Given the description of an element on the screen output the (x, y) to click on. 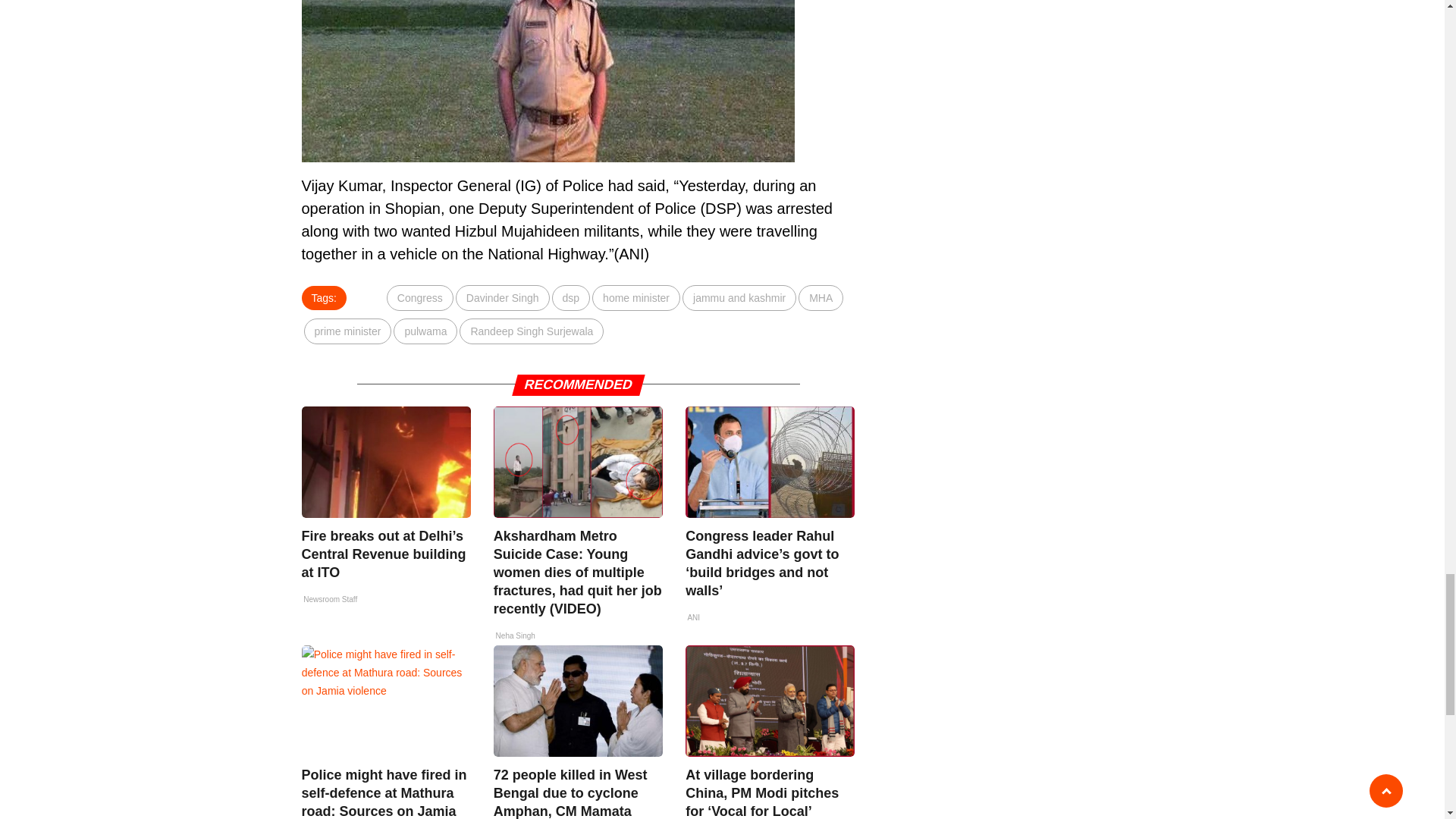
prime minister (346, 330)
MHA (820, 298)
Randeep Singh Surjewala (532, 330)
jammu and kashmir (739, 298)
Davinder Singh (502, 298)
home minister (635, 298)
dsp (571, 298)
Congress (419, 298)
pulwama (425, 330)
